Given the description of an element on the screen output the (x, y) to click on. 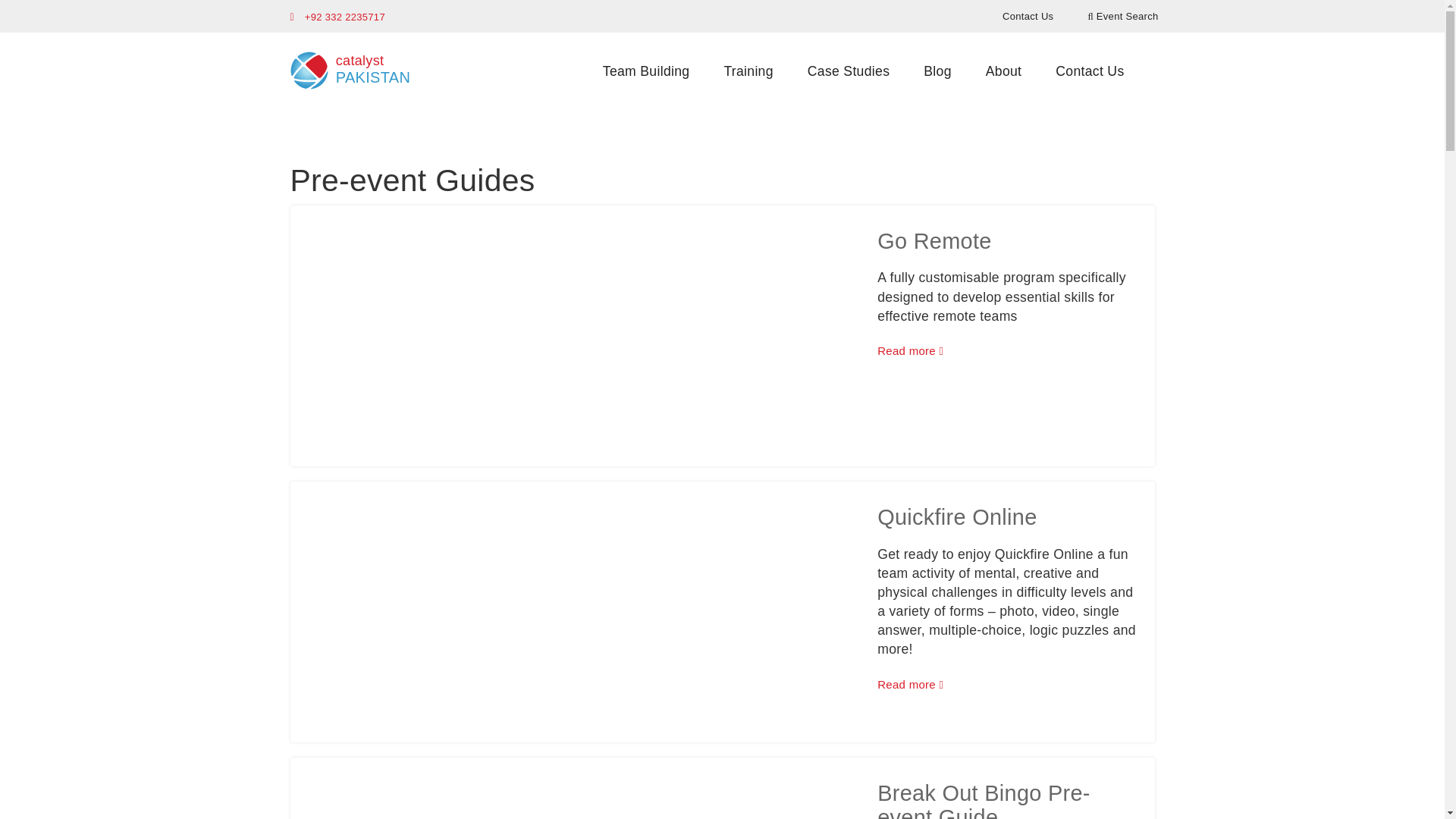
Event Search (1122, 15)
Contact Us (1089, 71)
Contact Us (1027, 15)
Training (747, 71)
Team Building (646, 71)
Case Studies (848, 71)
About (346, 64)
Blog (1003, 71)
